Given the description of an element on the screen output the (x, y) to click on. 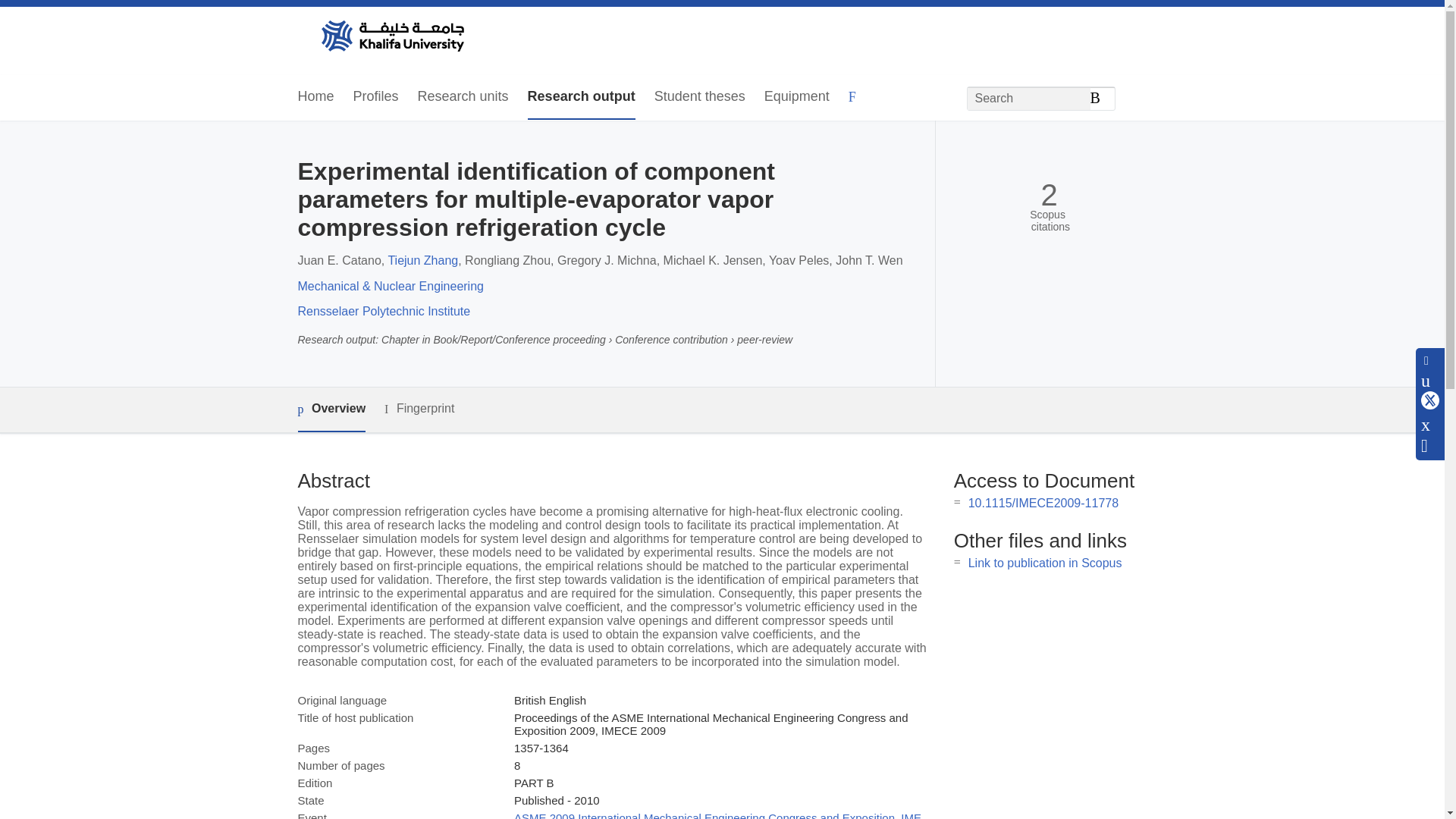
Rensselaer Polytechnic Institute (383, 310)
Home (315, 97)
Overview (331, 409)
Research output (580, 97)
Khalifa University Home (391, 37)
Profiles (375, 97)
Research units (462, 97)
Tiejun Zhang (422, 259)
Fingerprint (419, 408)
Student theses (699, 97)
Equipment (796, 97)
Link to publication in Scopus (1045, 562)
